Given the description of an element on the screen output the (x, y) to click on. 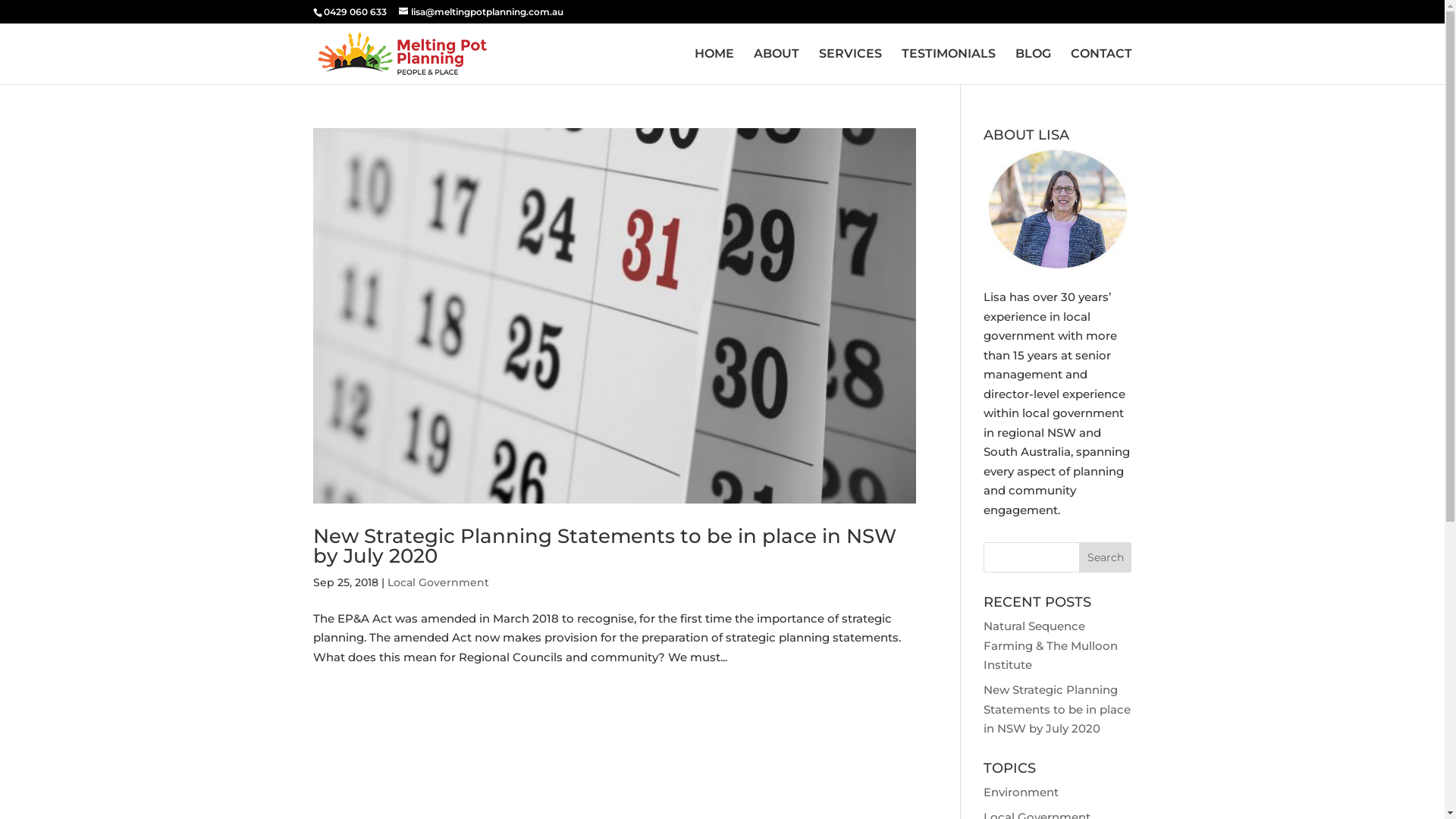
SERVICES Element type: text (850, 66)
TESTIMONIALS Element type: text (947, 66)
HOME Element type: text (714, 66)
Local Government Element type: text (437, 582)
Search Element type: text (1105, 557)
BLOG Element type: text (1032, 66)
lisa@meltingpotplanning.com.au Element type: text (480, 11)
Natural Sequence Farming & The Mulloon Institute Element type: text (1050, 644)
Environment Element type: text (1020, 791)
CONTACT Element type: text (1101, 66)
ABOUT Element type: text (776, 66)
